Given the description of an element on the screen output the (x, y) to click on. 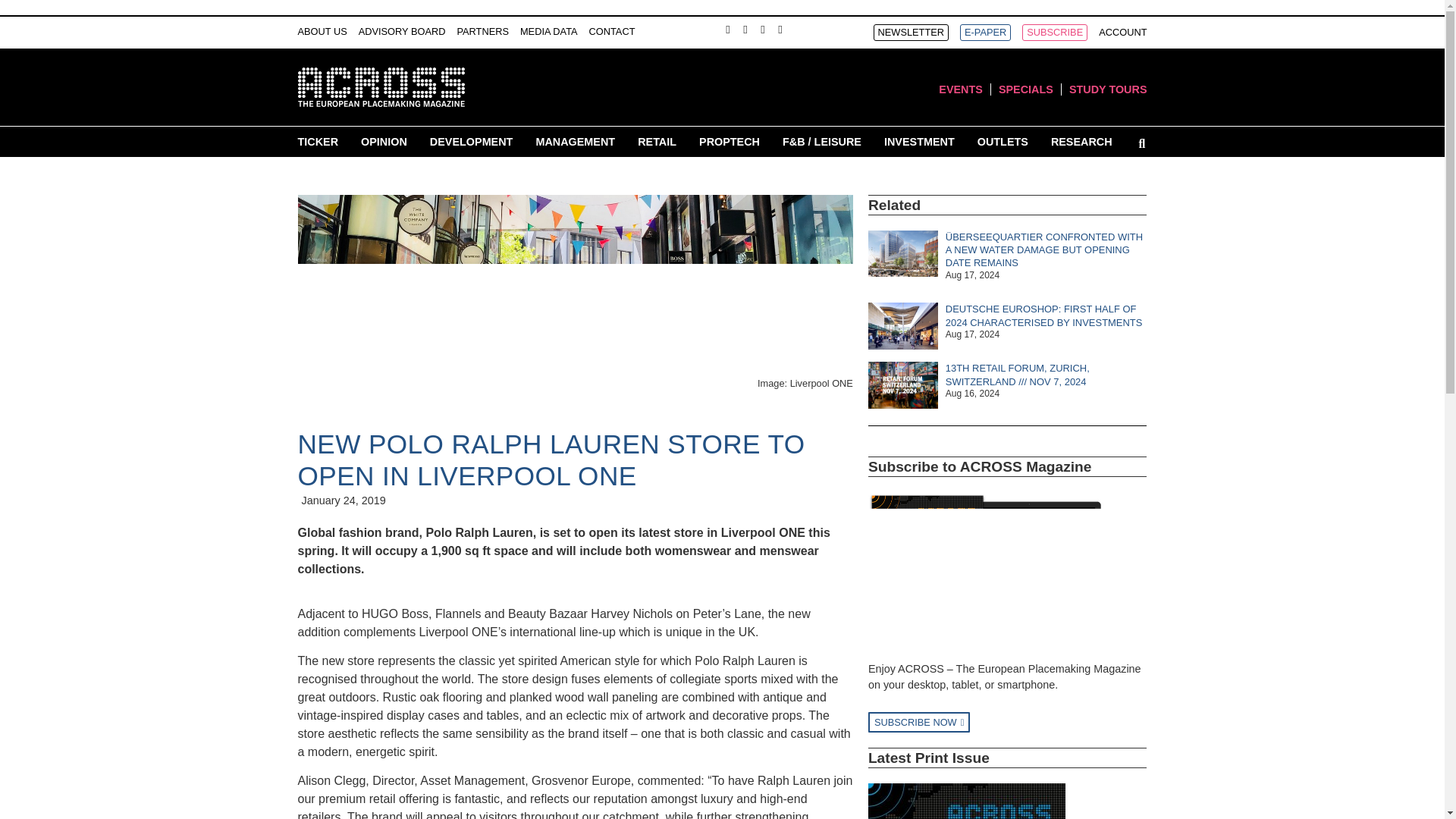
RESEARCH (1081, 141)
OUTLETS (1001, 141)
Subscribe to the ACROSS Newsletter (911, 32)
E-PAPER (984, 32)
RETAIL (657, 141)
NEWSLETTER (911, 32)
TICKER (317, 141)
MANAGEMENT (574, 141)
SUBSCRIBE (1054, 32)
PROPTECH (729, 141)
